Given the description of an element on the screen output the (x, y) to click on. 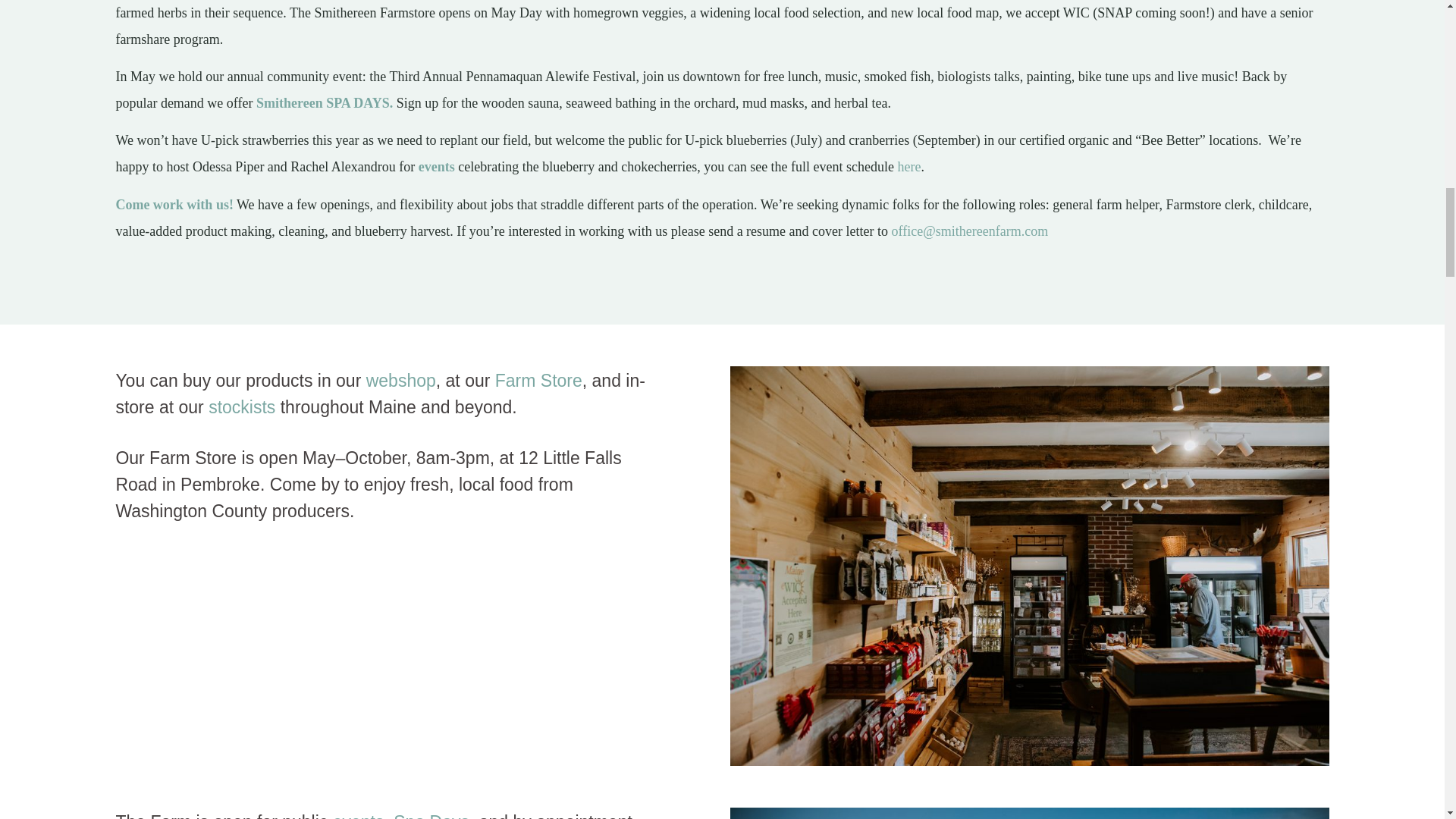
Come work with us! (173, 204)
webshop (400, 380)
Smithereen SPA DAYS. (324, 102)
here (909, 166)
events (436, 166)
stockists (241, 406)
Farm Store (538, 380)
events (358, 815)
Spa Days (430, 815)
